Given the description of an element on the screen output the (x, y) to click on. 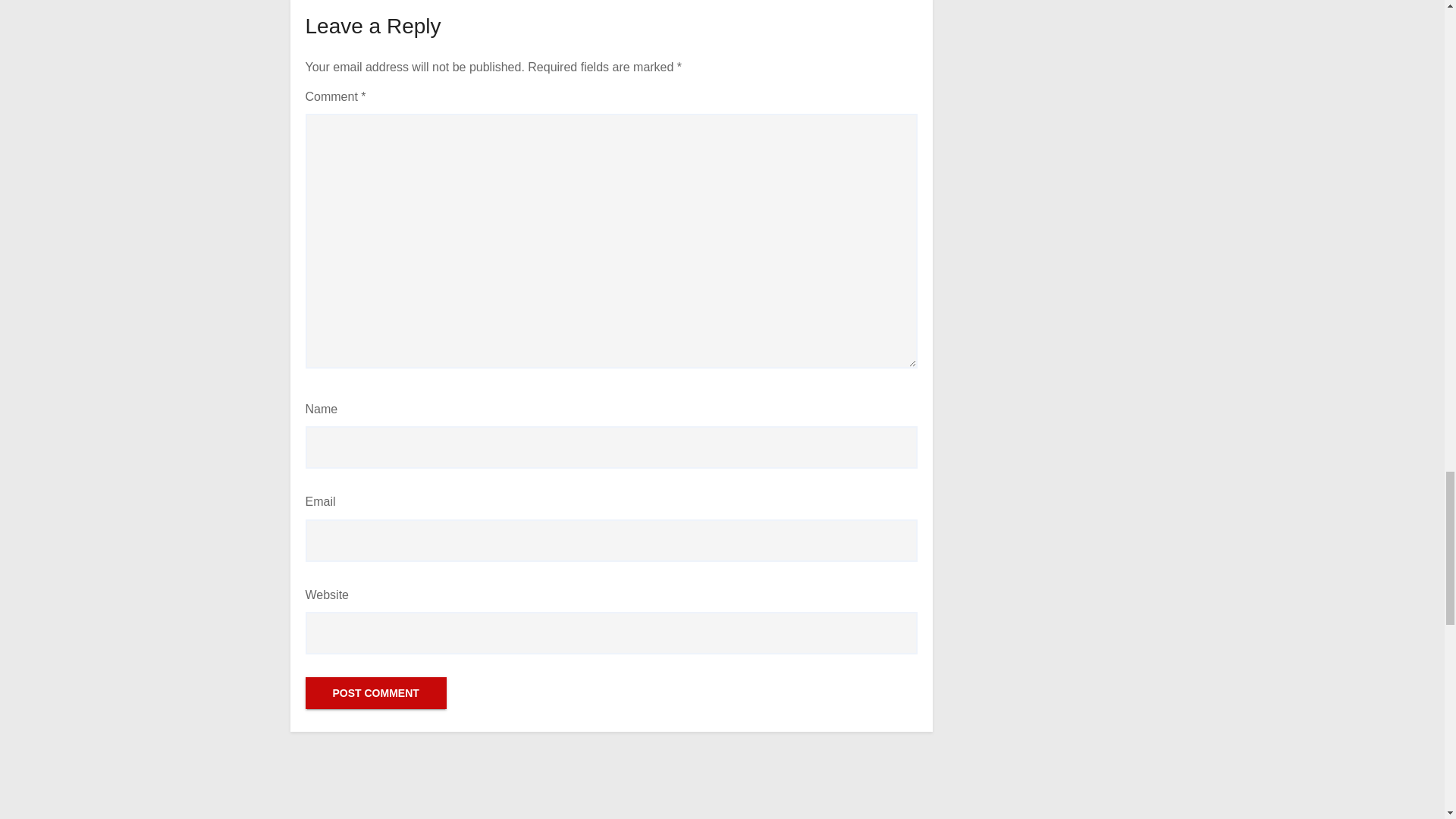
Post Comment (374, 693)
